Given the description of an element on the screen output the (x, y) to click on. 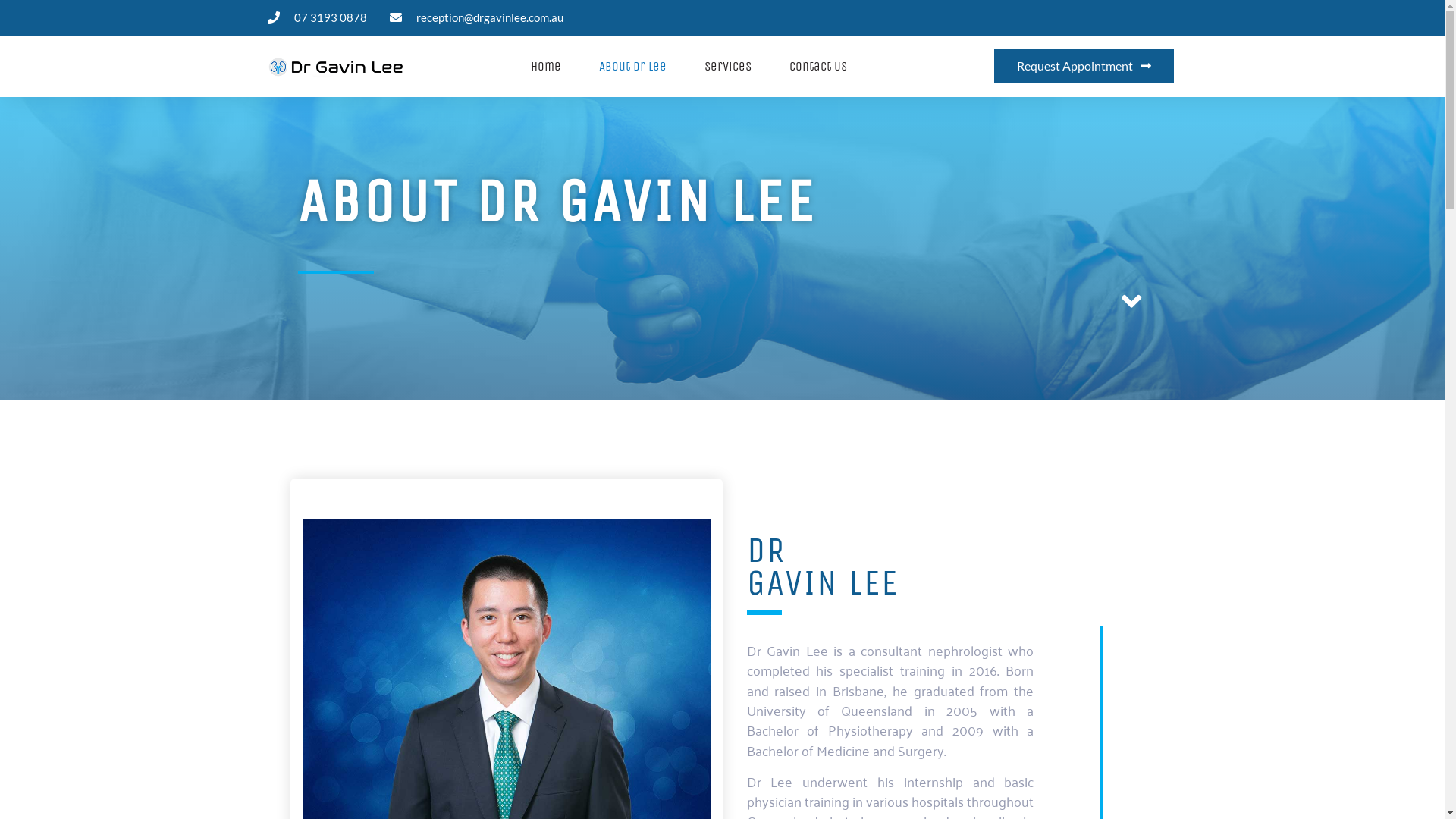
Request Appointment Element type: text (1083, 65)
About Dr Lee Element type: text (632, 66)
Contact Us Element type: text (818, 66)
Home Element type: text (545, 66)
Services Element type: text (727, 66)
reception@drgavinlee.com.au Element type: text (476, 17)
07 3193 0878 Element type: text (316, 17)
